Given the description of an element on the screen output the (x, y) to click on. 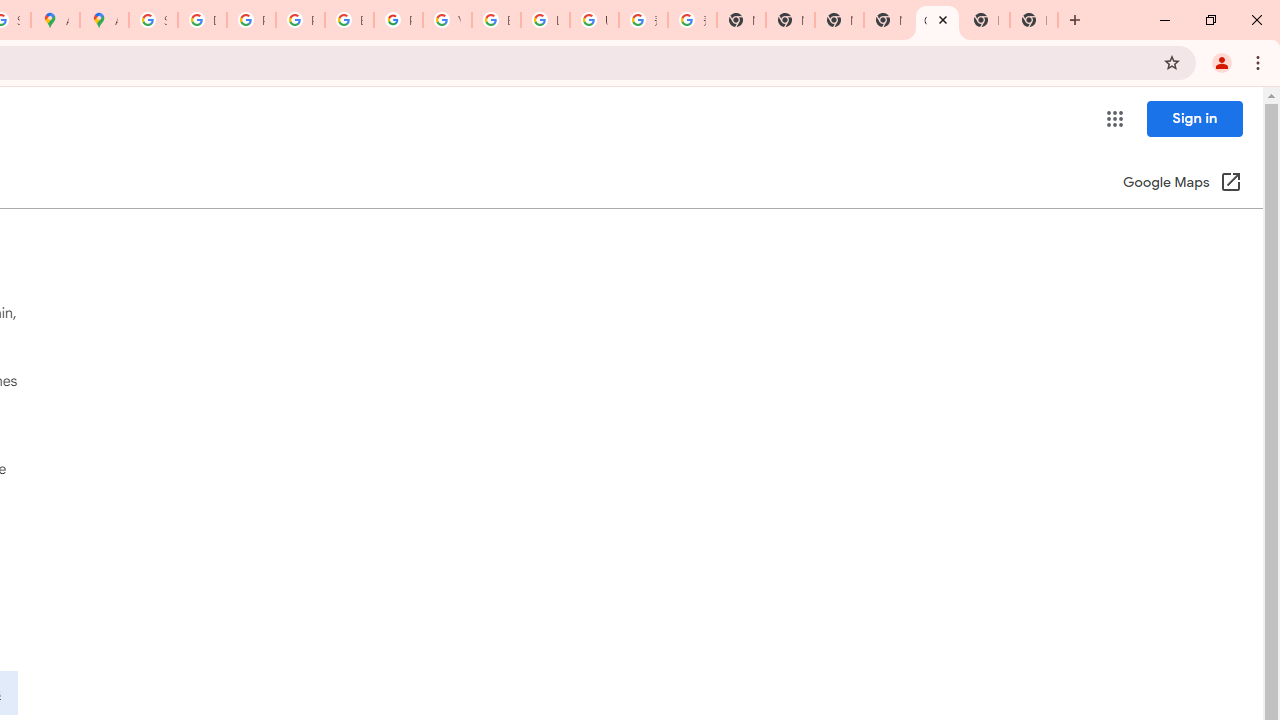
New Tab (1033, 20)
Privacy Help Center - Policies Help (300, 20)
YouTube (447, 20)
New Tab (985, 20)
New Tab (888, 20)
